Given the description of an element on the screen output the (x, y) to click on. 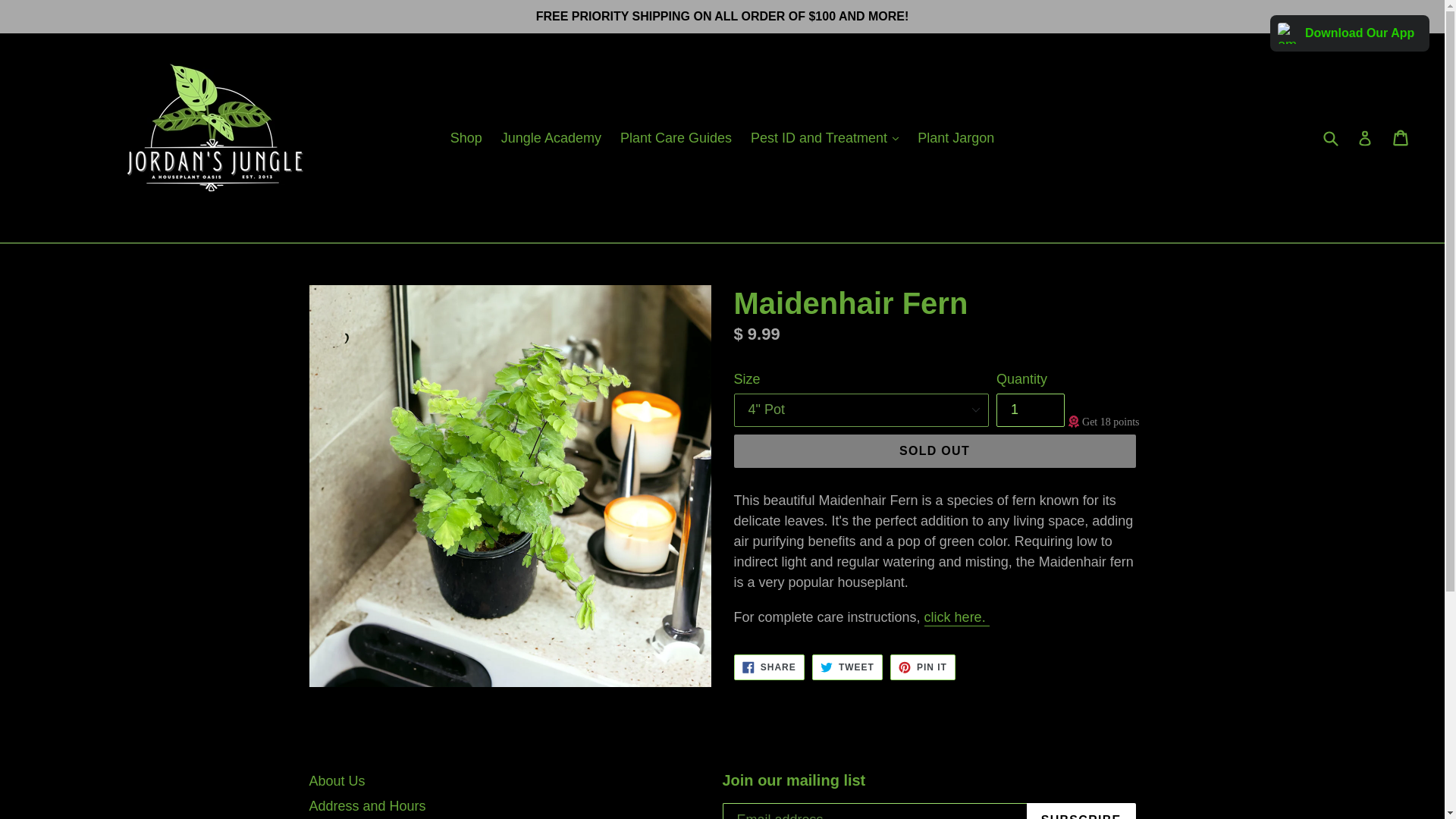
click here.  (769, 667)
Fern Care Guide (957, 617)
Pin on Pinterest (957, 617)
Plant Care Guides (922, 667)
Tweet on Twitter (675, 138)
Shop (847, 667)
1 (465, 138)
Plant Jargon (1029, 409)
Share on Facebook (955, 138)
